Given the description of an element on the screen output the (x, y) to click on. 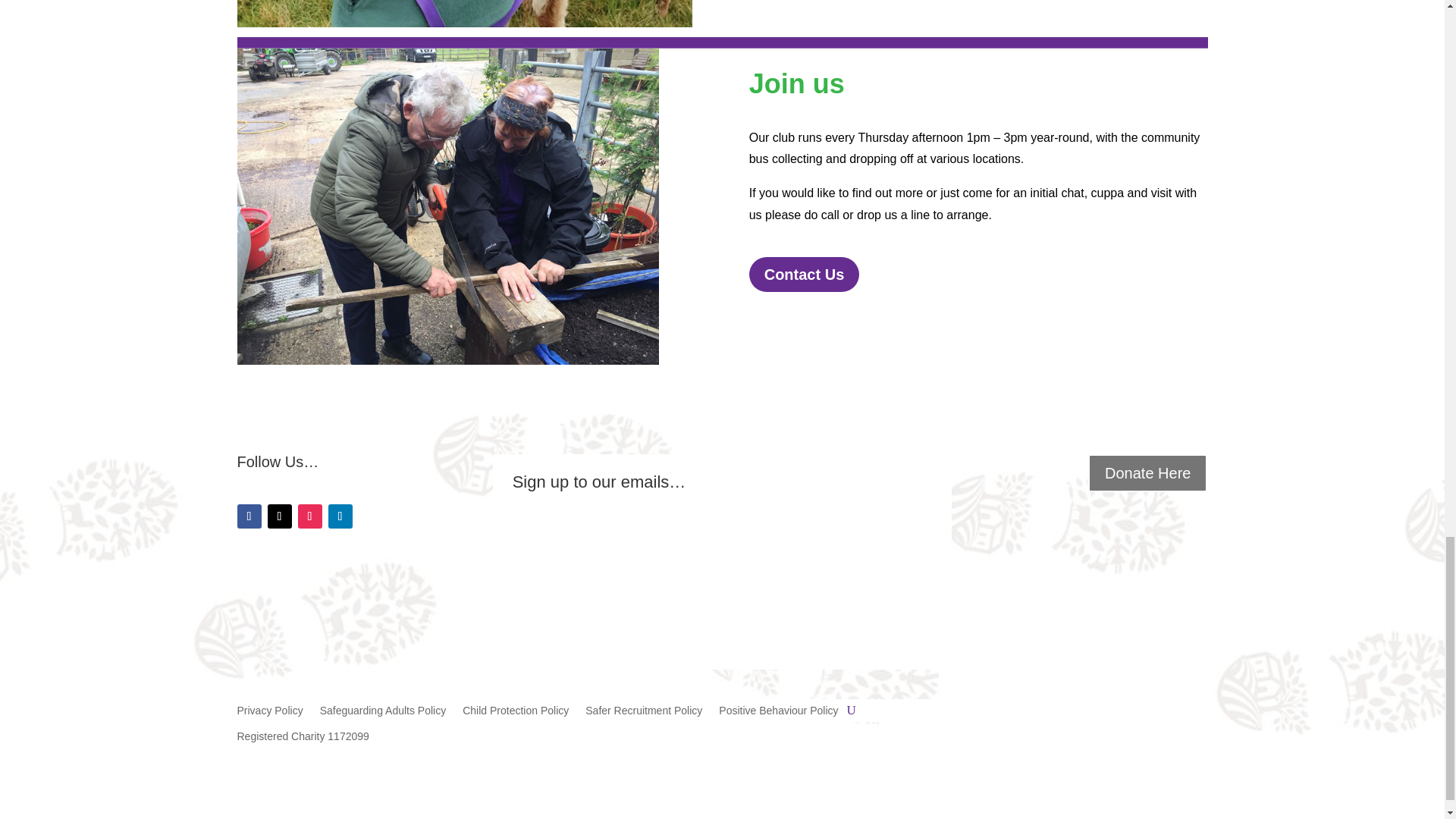
Child Protection Policy (516, 713)
Safeguarding Adults Policy (383, 713)
Follow on Facebook (247, 516)
Donate Here (1147, 473)
Safer Recruitment Policy (643, 713)
country-club-image-5 (463, 13)
Contact Us (804, 274)
Follow on LinkedIn (339, 516)
Follow on X (278, 516)
Privacy Policy (268, 713)
